Given the description of an element on the screen output the (x, y) to click on. 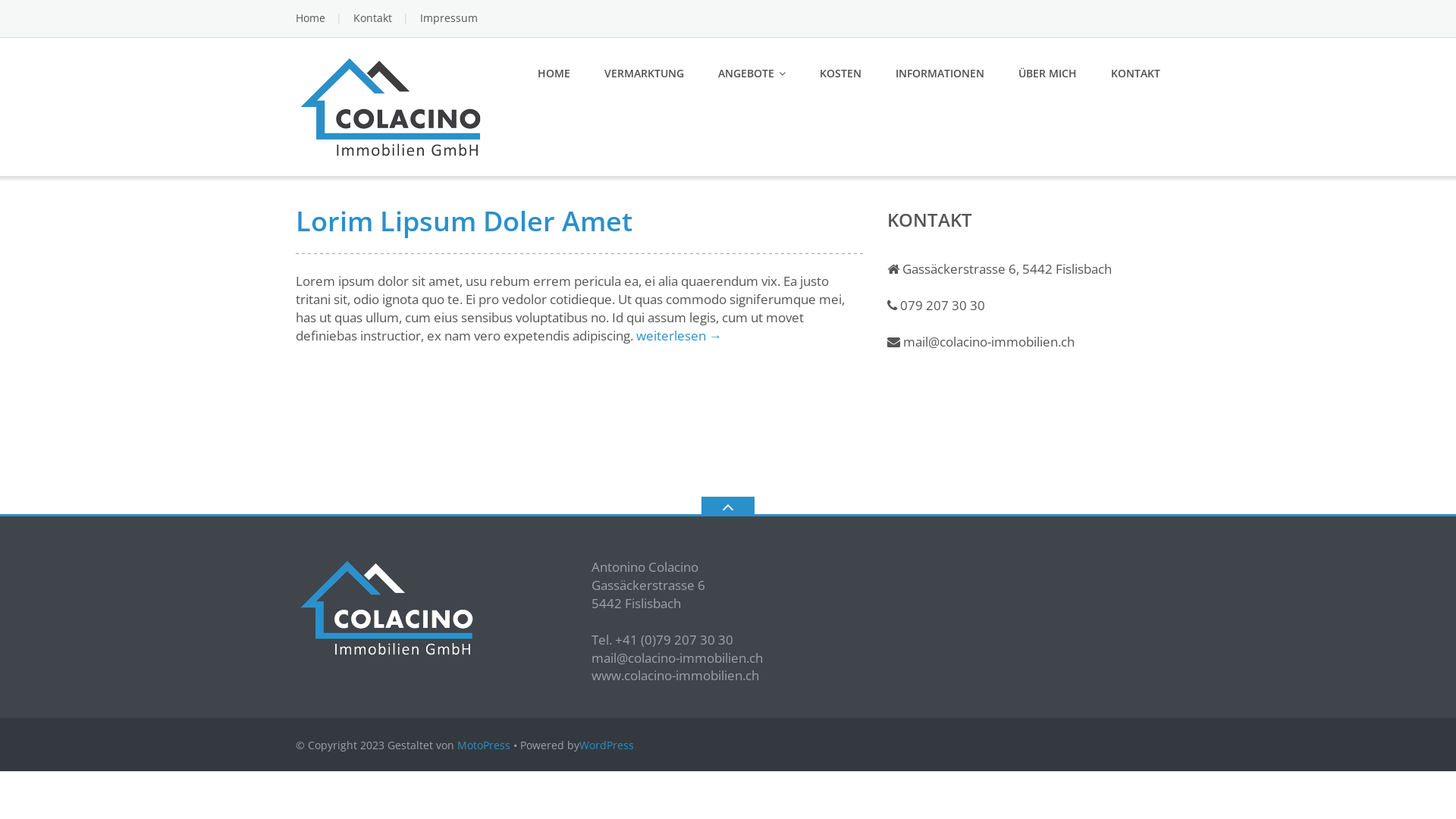
VERMARKTUNG Element type: text (644, 73)
Kontakt Element type: text (372, 17)
Lorim Lipsum Doler Amet Element type: text (463, 220)
INFORMATIONEN Element type: text (939, 73)
KOSTEN Element type: text (840, 73)
WordPress Element type: text (606, 744)
Home Element type: text (310, 17)
Impressum Element type: text (448, 17)
KONTAKT Element type: text (1135, 73)
MotoPress Element type: text (483, 744)
ANGEBOTE Element type: text (751, 73)
HOME Element type: text (553, 73)
